Given the description of an element on the screen output the (x, y) to click on. 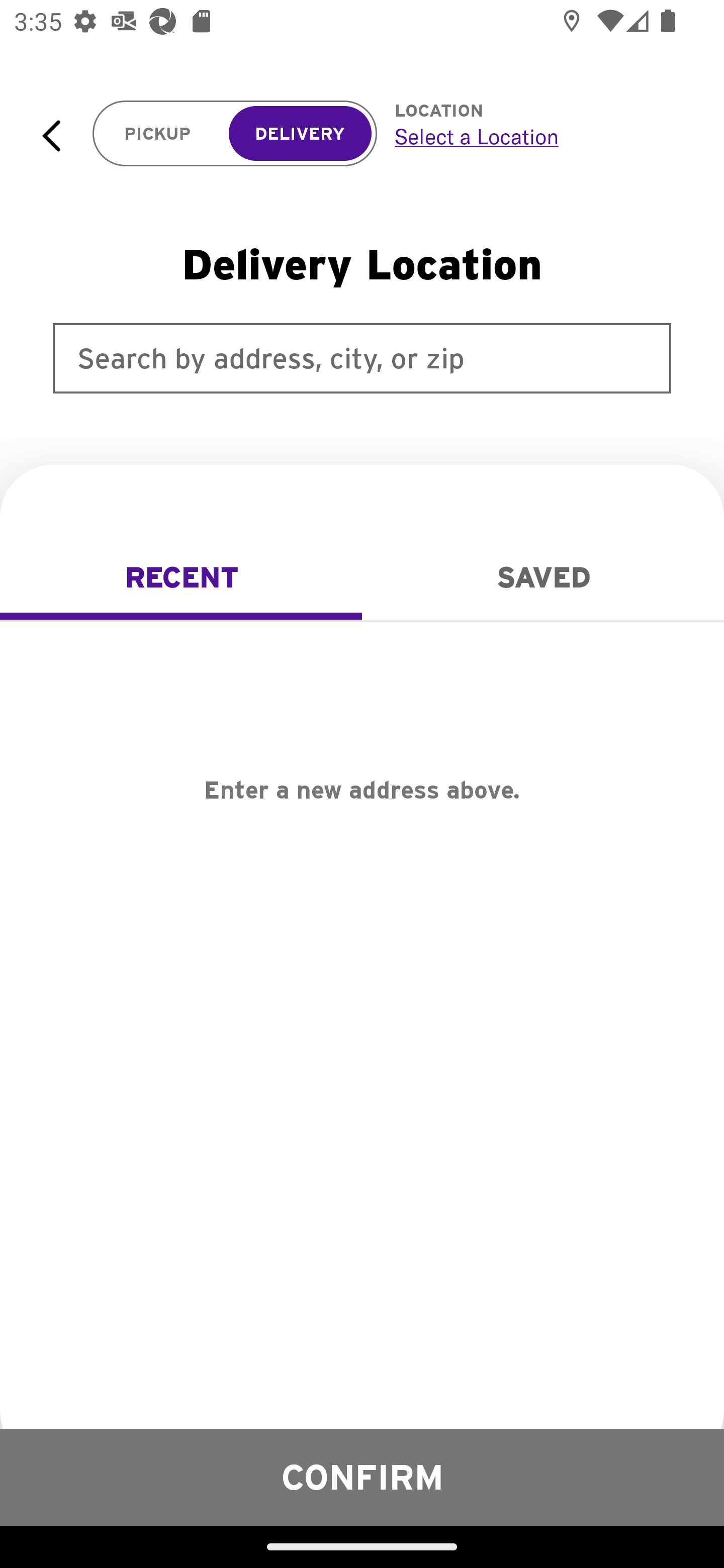
PICKUP (157, 133)
DELIVERY (299, 133)
Select a Location (536, 136)
Search by address, city, or zip (361, 358)
Saved SAVED (543, 576)
CONFIRM (362, 1476)
